Given the description of an element on the screen output the (x, y) to click on. 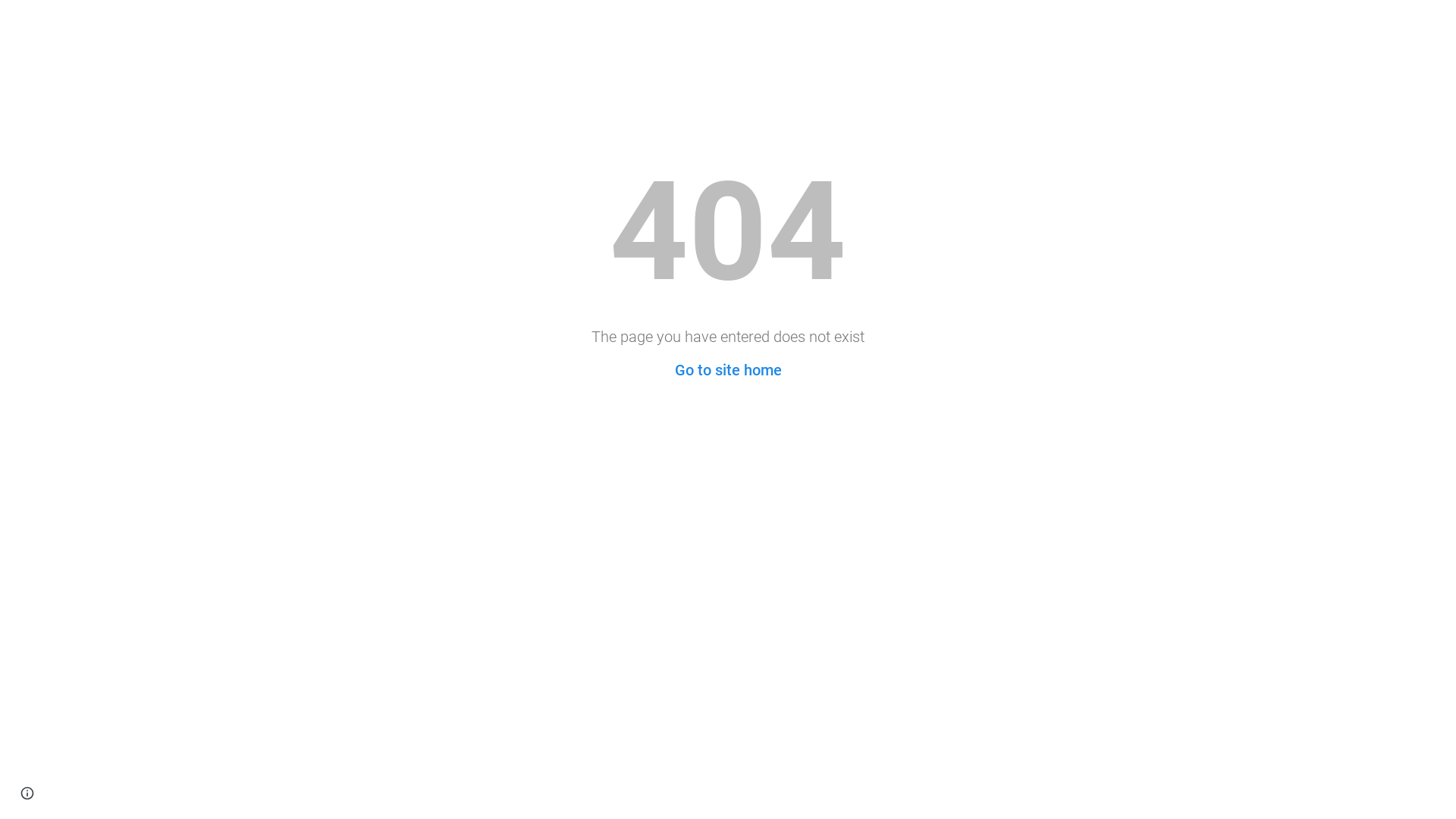
Go to site home Element type: text (727, 369)
